Given the description of an element on the screen output the (x, y) to click on. 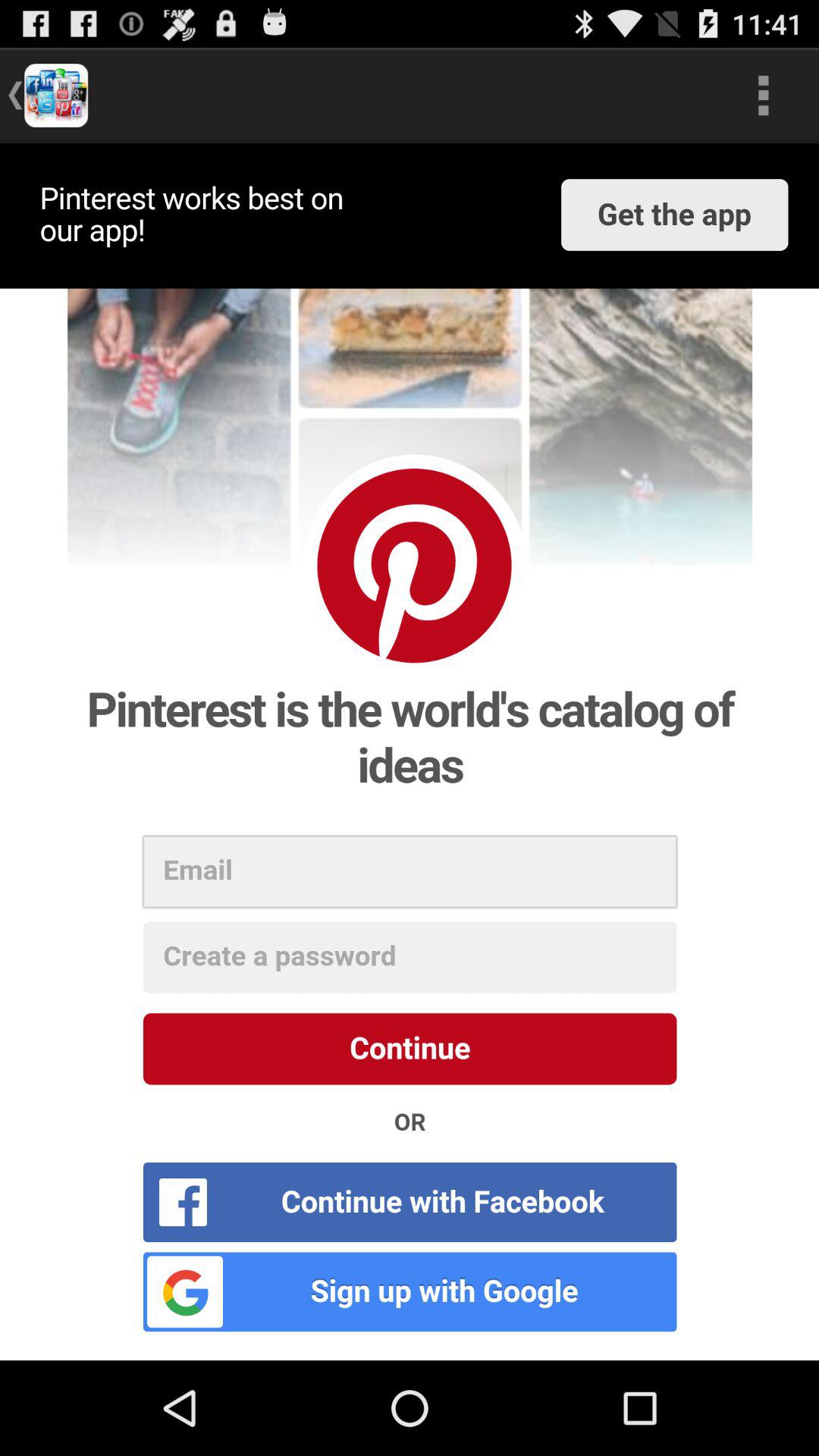
app pinterest (409, 751)
